Given the description of an element on the screen output the (x, y) to click on. 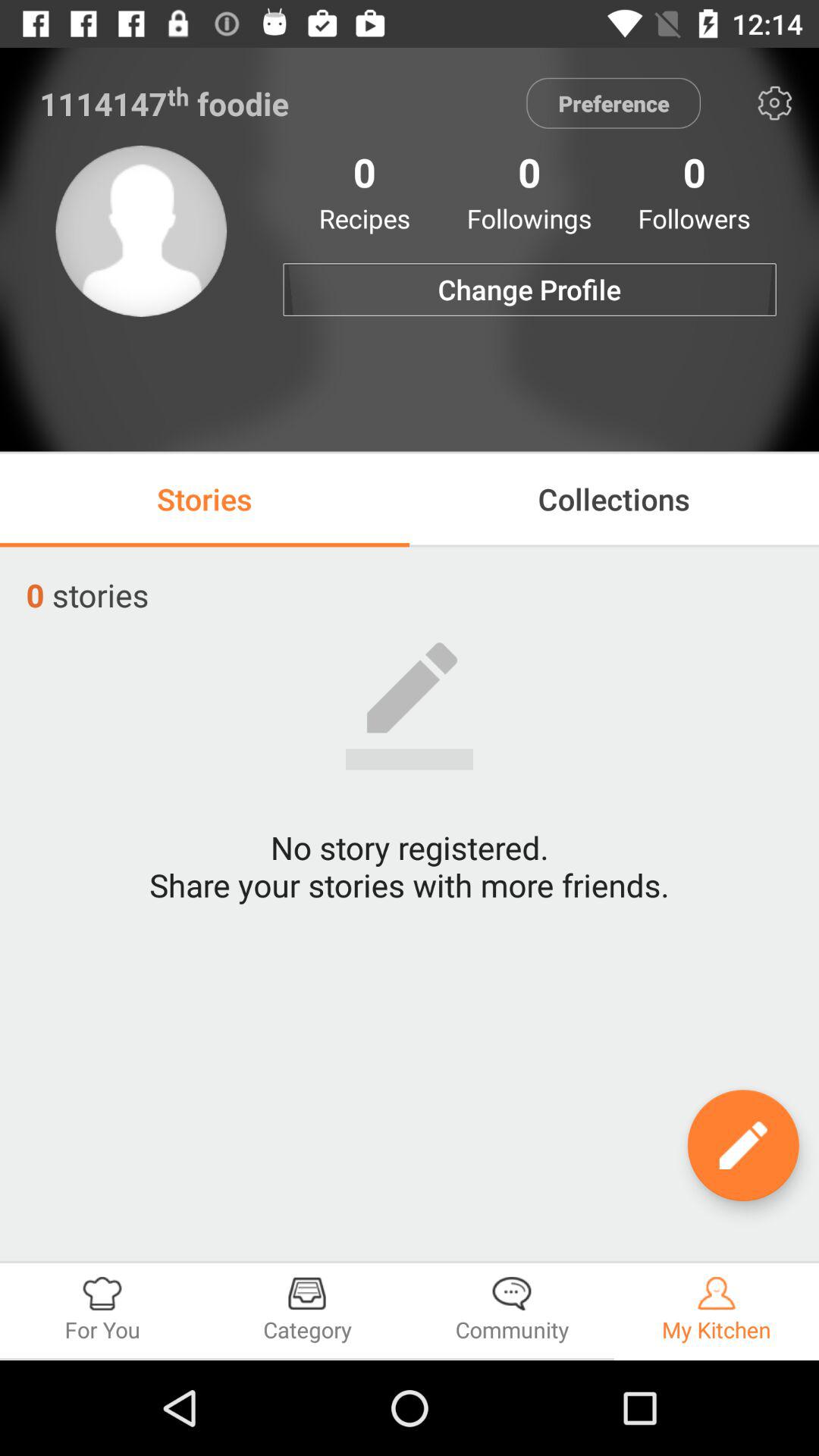
click the item to the left of the change profile item (140, 230)
